Given the description of an element on the screen output the (x, y) to click on. 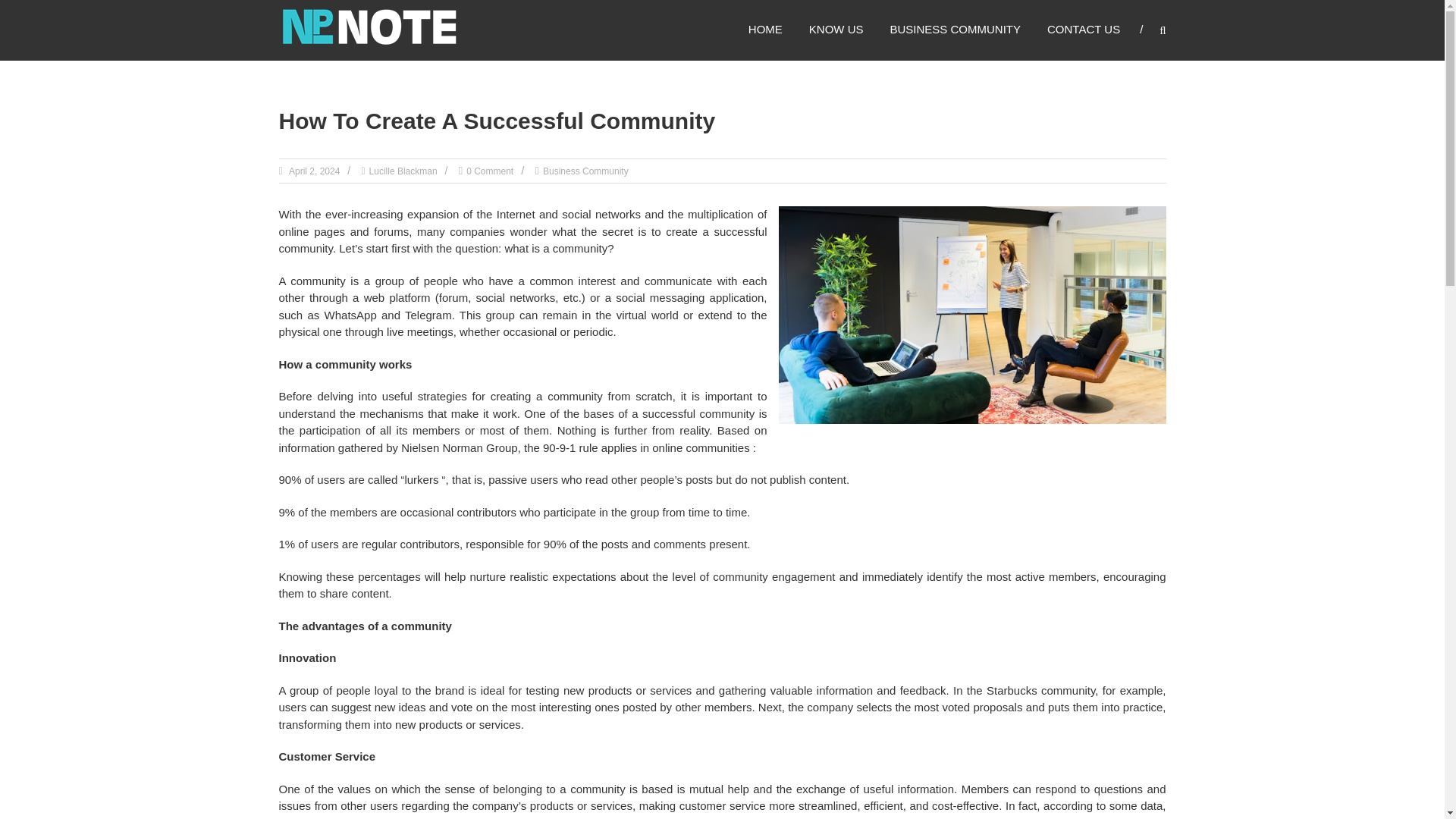
CONTACT US (1082, 29)
BUSINESS COMMUNITY (955, 29)
Lucille Blackman (403, 171)
Business Community (585, 171)
KNOW US (836, 29)
0 Comment (489, 171)
April 2, 2024 (313, 171)
Search (1232, 409)
12:54 pm (313, 171)
Lucille Blackman (403, 171)
